Given the description of an element on the screen output the (x, y) to click on. 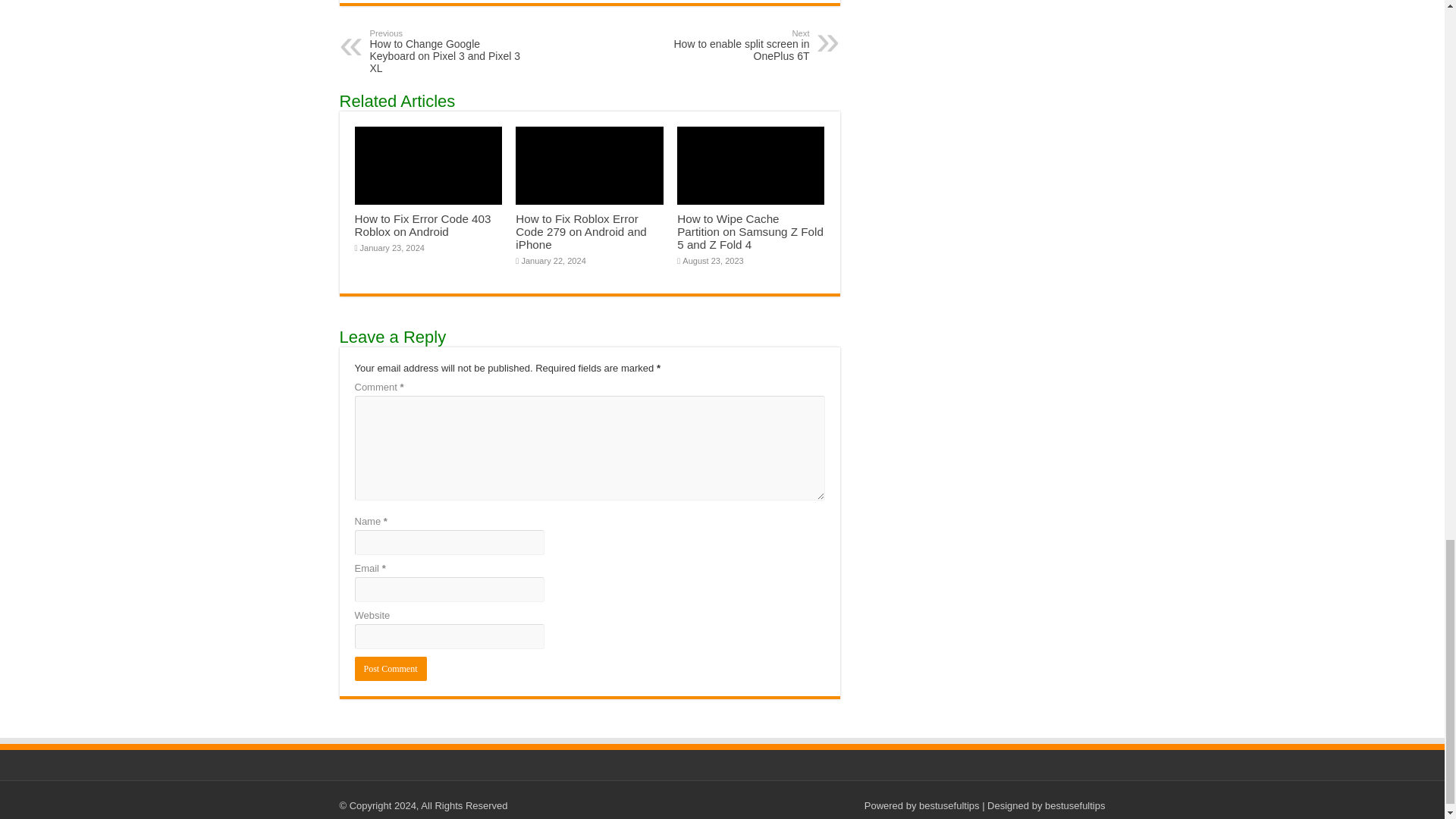
How to Fix Error Code 403 Roblox on Android (423, 225)
How to Fix Roblox Error Code 279 on Android and iPhone (731, 45)
Post Comment (580, 231)
